Given the description of an element on the screen output the (x, y) to click on. 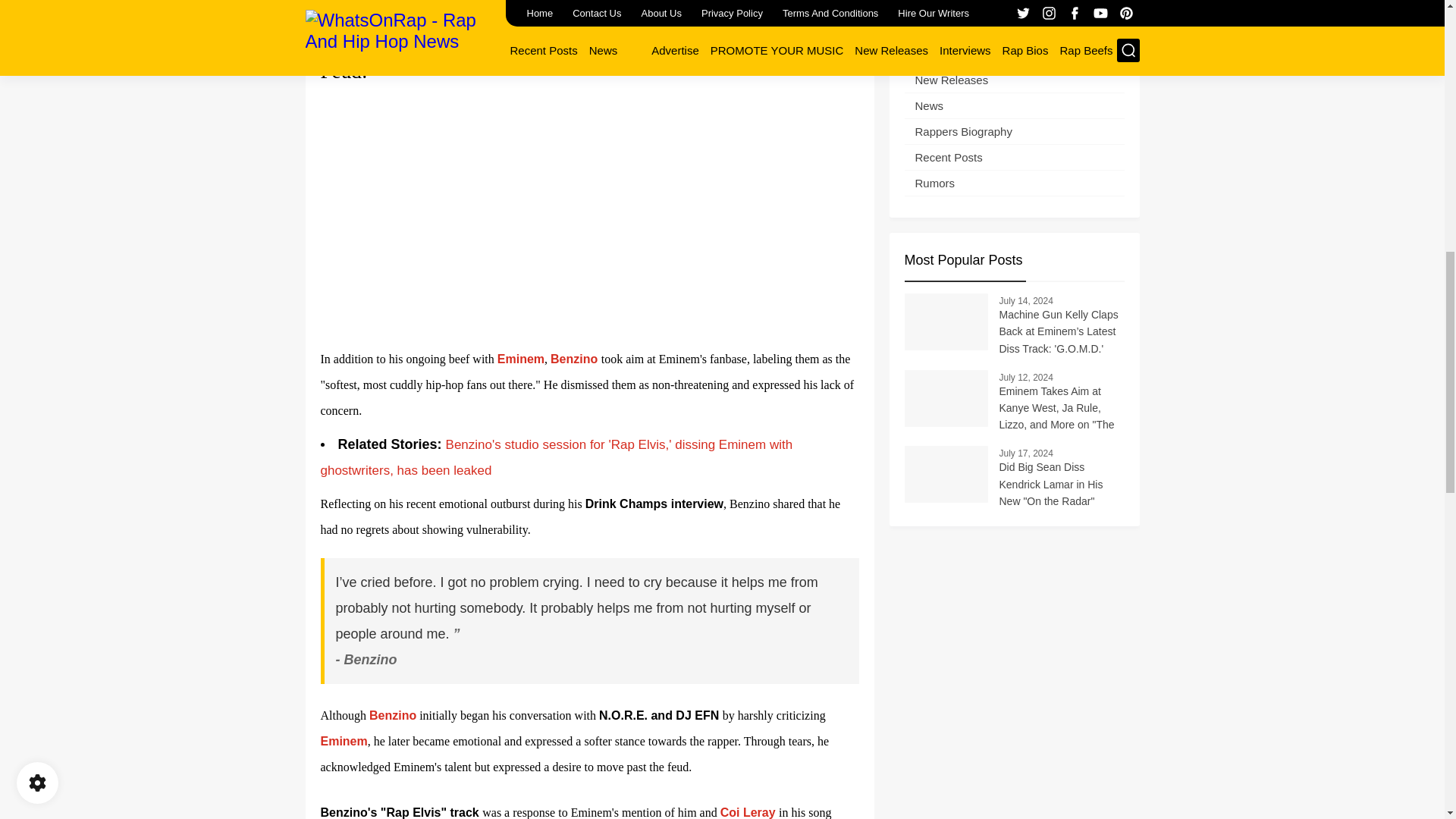
Eminem (520, 358)
Benzino (575, 358)
